Given the description of an element on the screen output the (x, y) to click on. 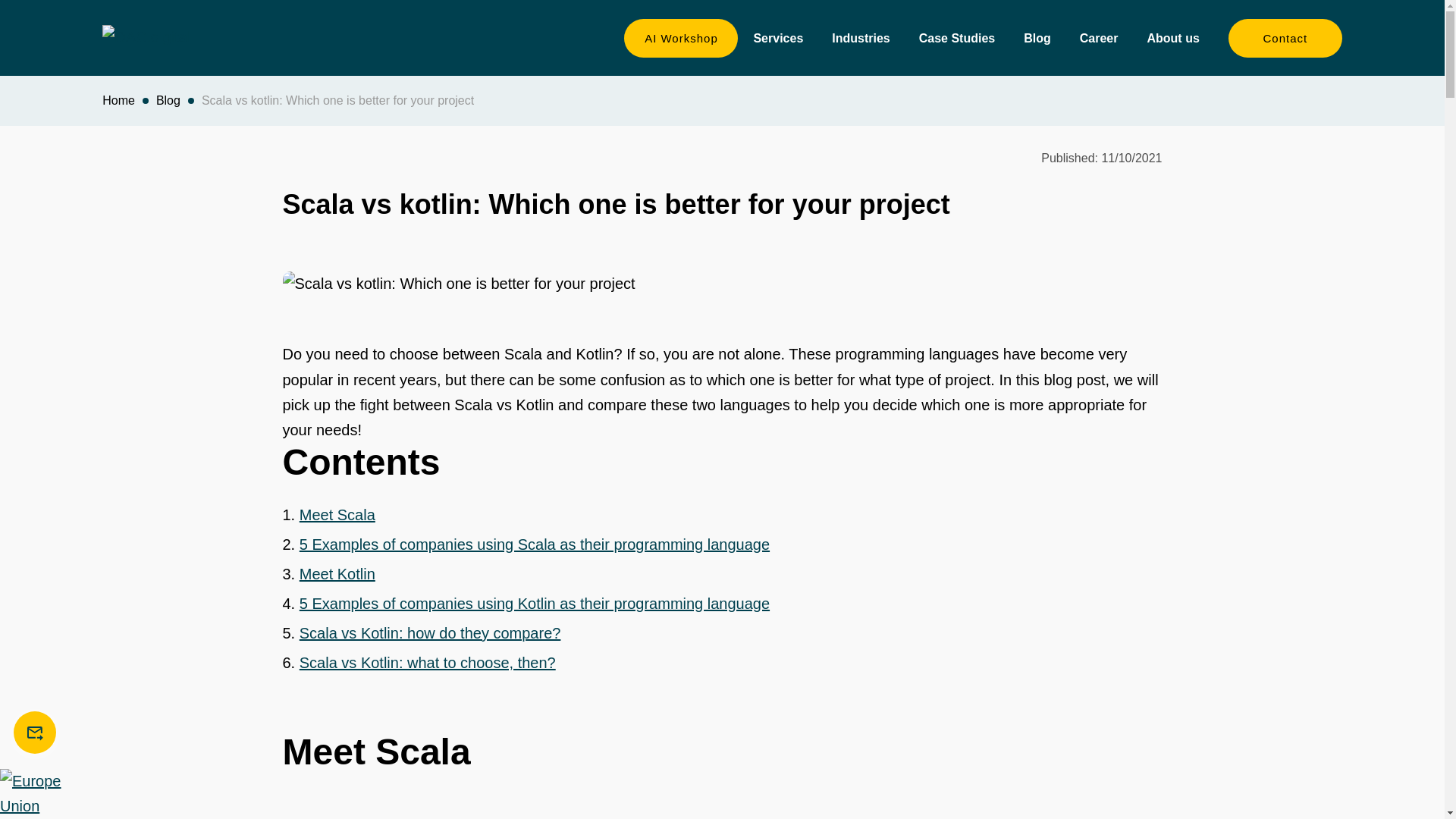
Industries (866, 37)
Services (784, 37)
AI Workshop (681, 37)
